Given the description of an element on the screen output the (x, y) to click on. 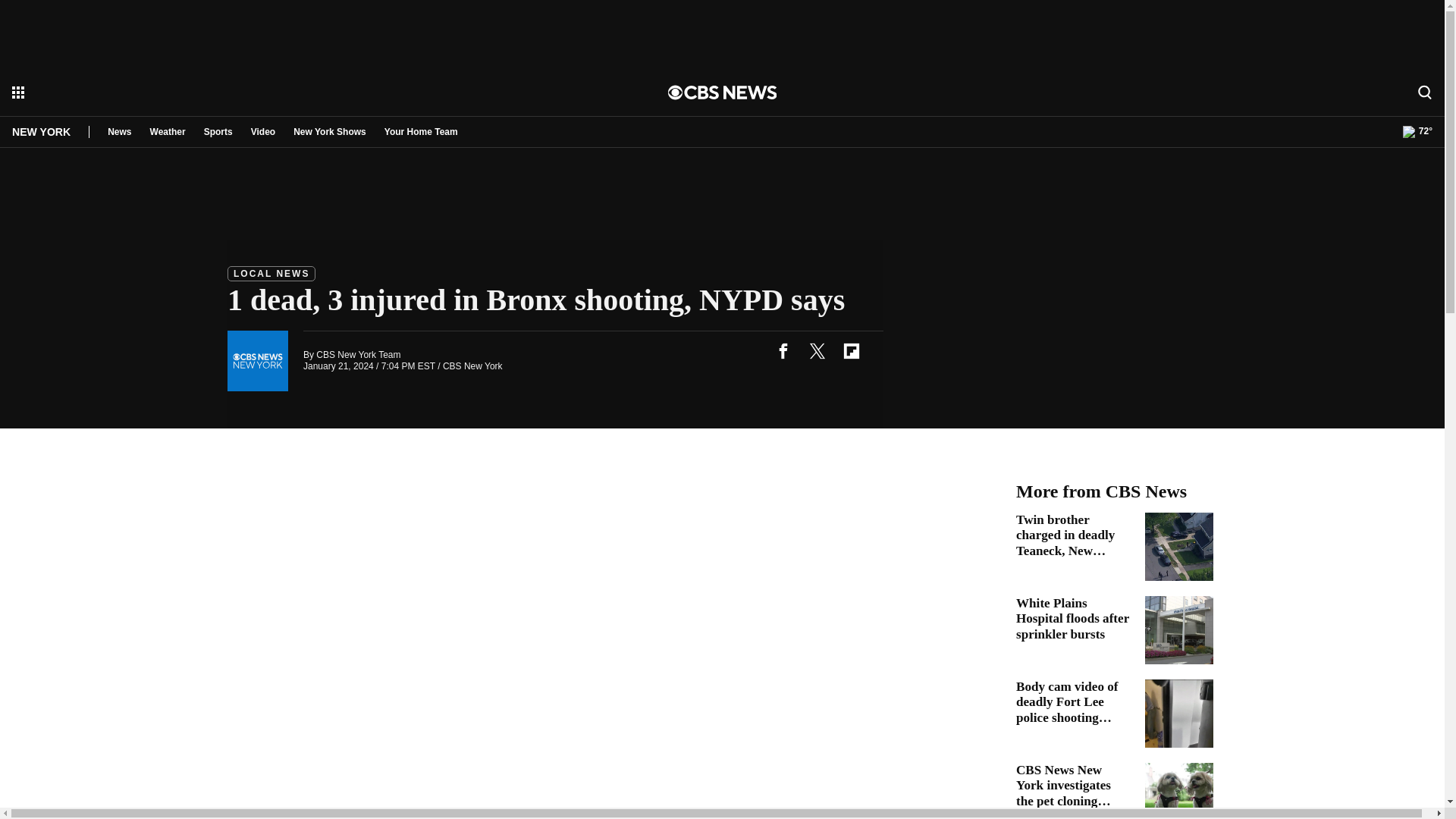
flipboard (850, 350)
facebook (782, 350)
twitter (816, 350)
